Given the description of an element on the screen output the (x, y) to click on. 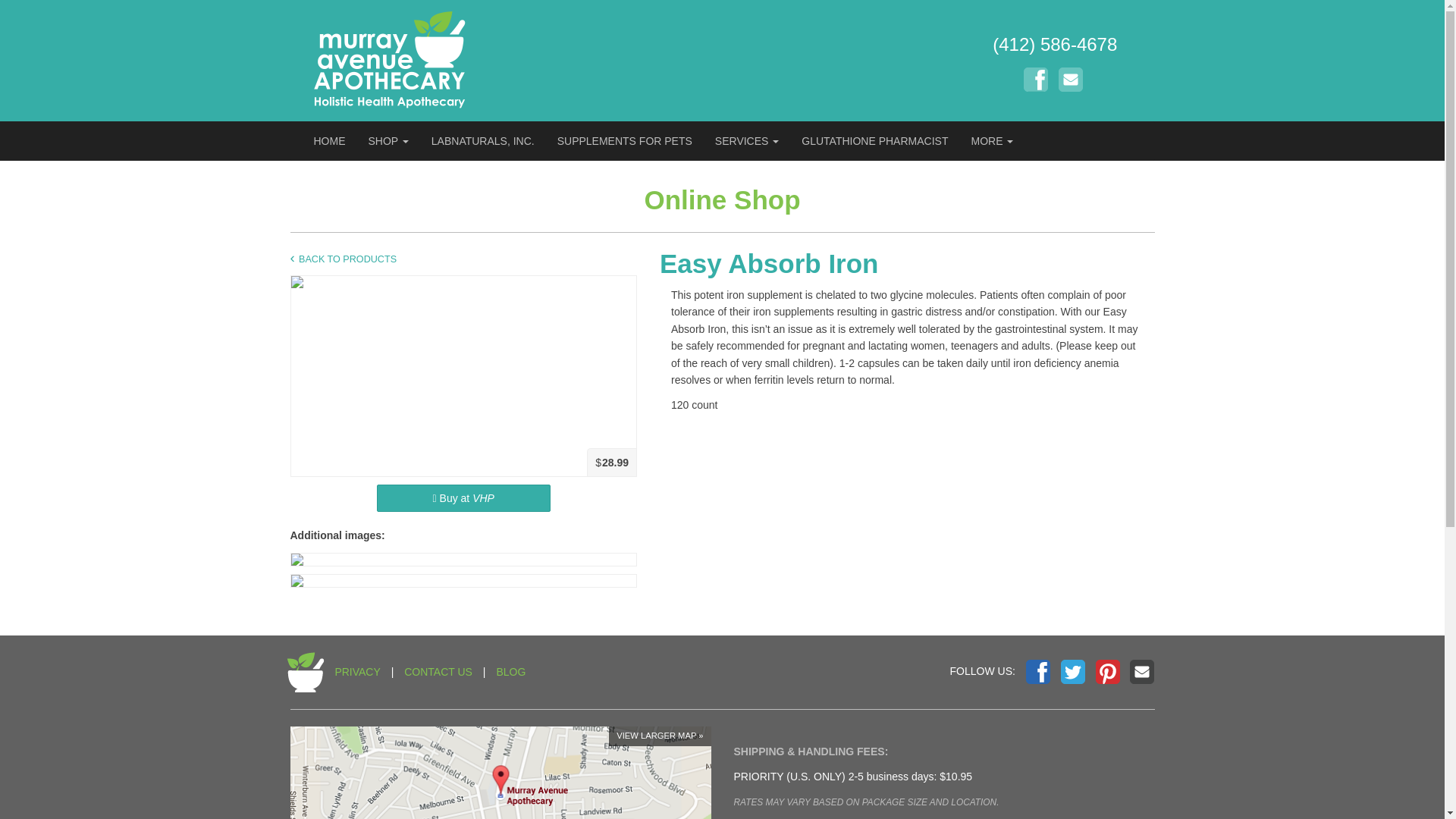
Visit us on Facebook (1035, 79)
Visit us on Pinterest (1107, 671)
HOME (328, 140)
SERVICES (746, 140)
Visit us on Facebook (1037, 671)
GLUTATHIONE PHARMACIST (874, 140)
MORE (992, 140)
Contact Us (1070, 79)
Easy Absorb Iron (906, 263)
SHOP (387, 140)
Contact Us (1141, 671)
Visit us on Twitter (1072, 671)
LABNATURALS, INC. (483, 140)
SUPPLEMENTS FOR PETS (624, 140)
